Given the description of an element on the screen output the (x, y) to click on. 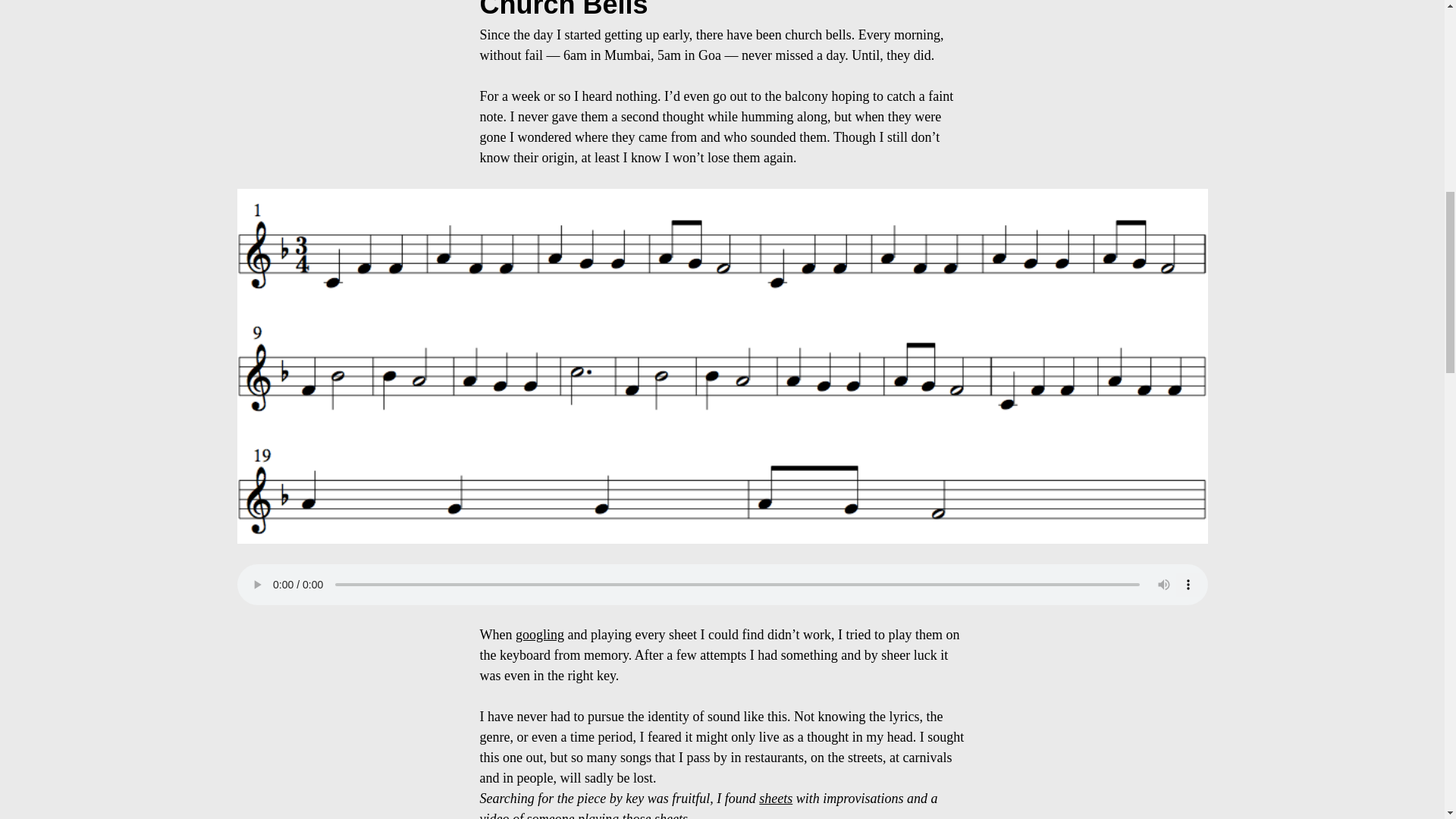
sheets (775, 798)
googling (539, 634)
Googling for Sheet Music (539, 634)
Church Bells (563, 9)
video (493, 815)
